Given the description of an element on the screen output the (x, y) to click on. 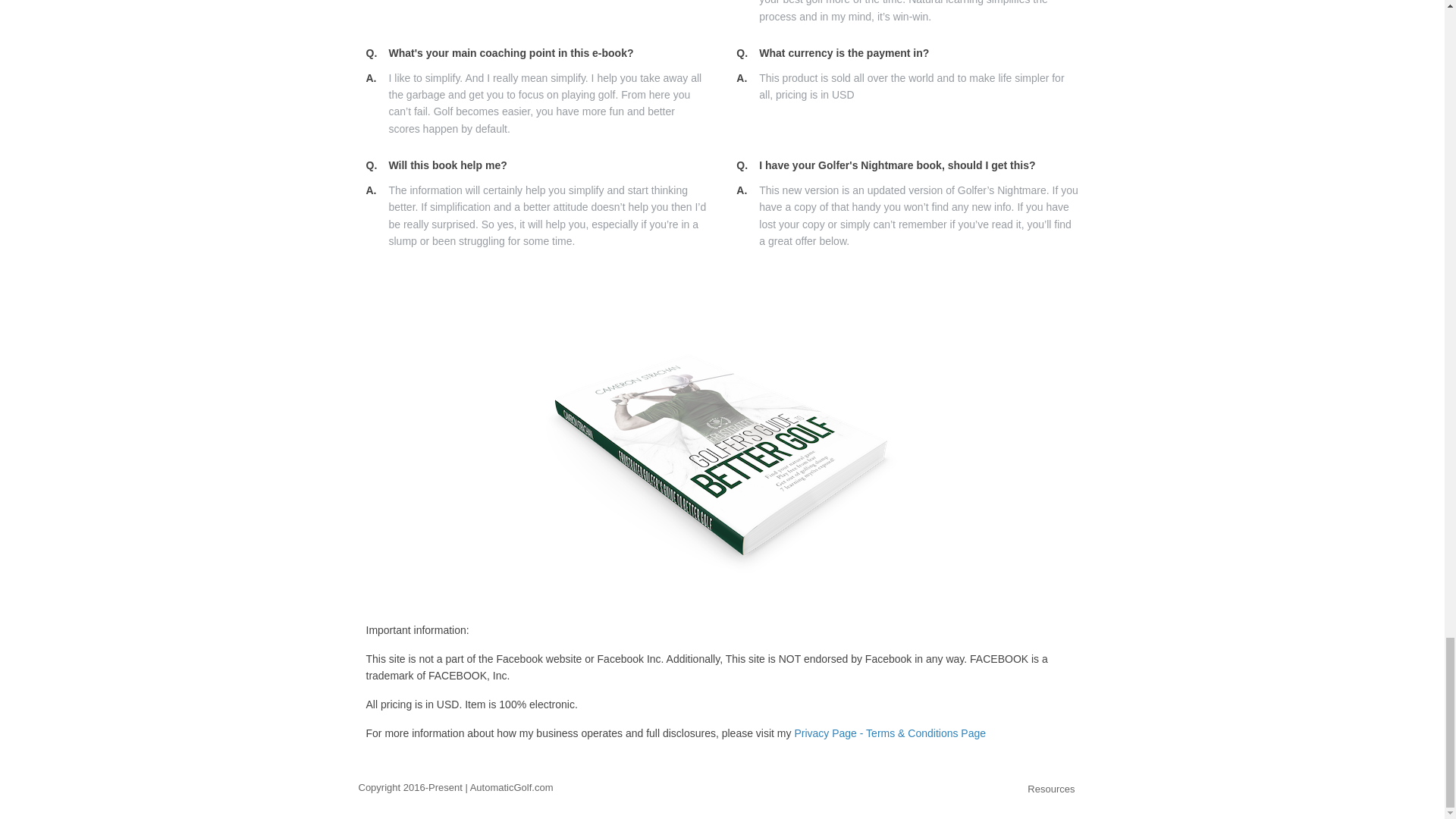
Resources (1050, 788)
